Given the description of an element on the screen output the (x, y) to click on. 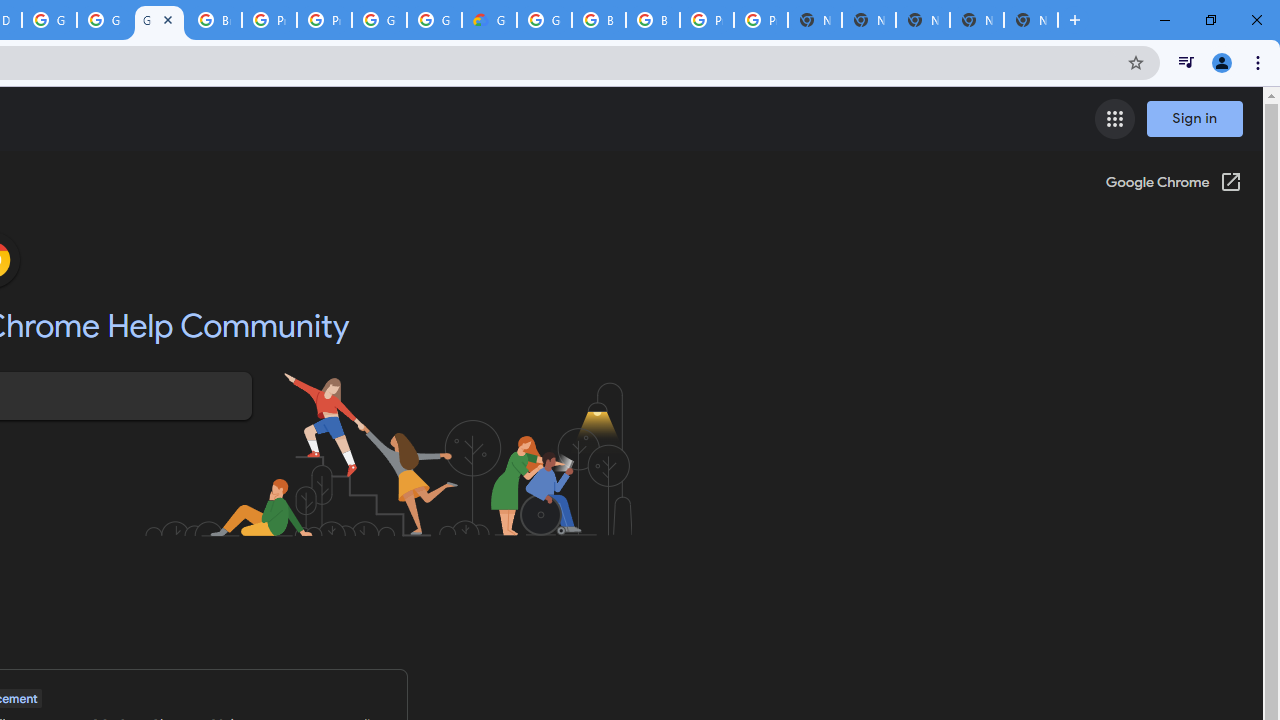
New Tab (1030, 20)
Browse Chrome as a guest - Computer - Google Chrome Help (598, 20)
Google Cloud Platform (434, 20)
Google Cloud Platform (48, 20)
